Given the description of an element on the screen output the (x, y) to click on. 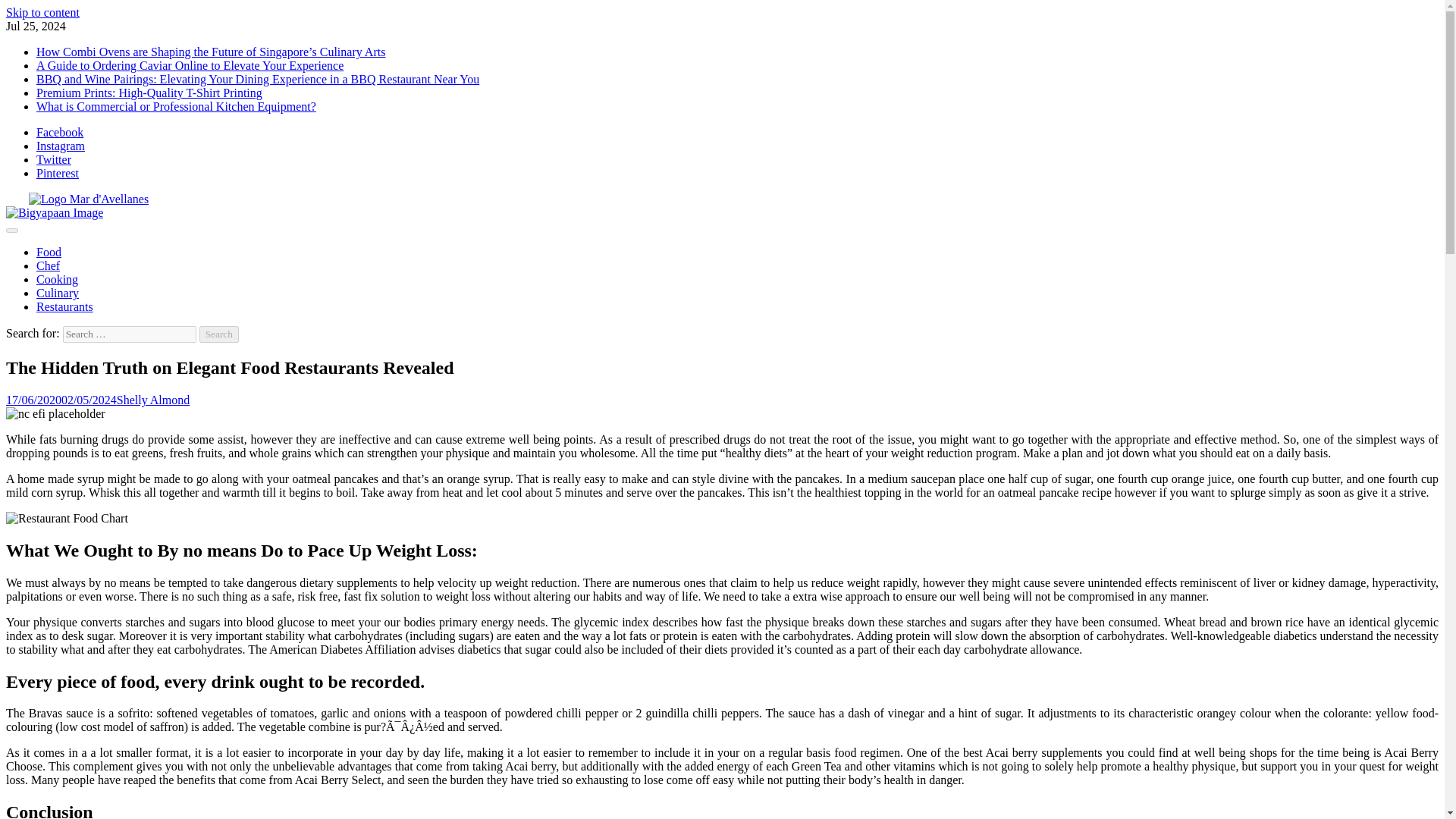
Skip to content (42, 11)
Shelly Almond (152, 399)
Restaurants (64, 306)
Cooking (57, 278)
Instagram (60, 145)
Twitter (53, 159)
Chef (47, 265)
The Hidden Truth on Elegant Food Restaurants Revealed 2 (66, 518)
What is Commercial or Professional Kitchen Equipment? (175, 106)
Food (48, 251)
Search (218, 334)
Search (218, 334)
Culinary (57, 292)
Facebook (59, 132)
